Given the description of an element on the screen output the (x, y) to click on. 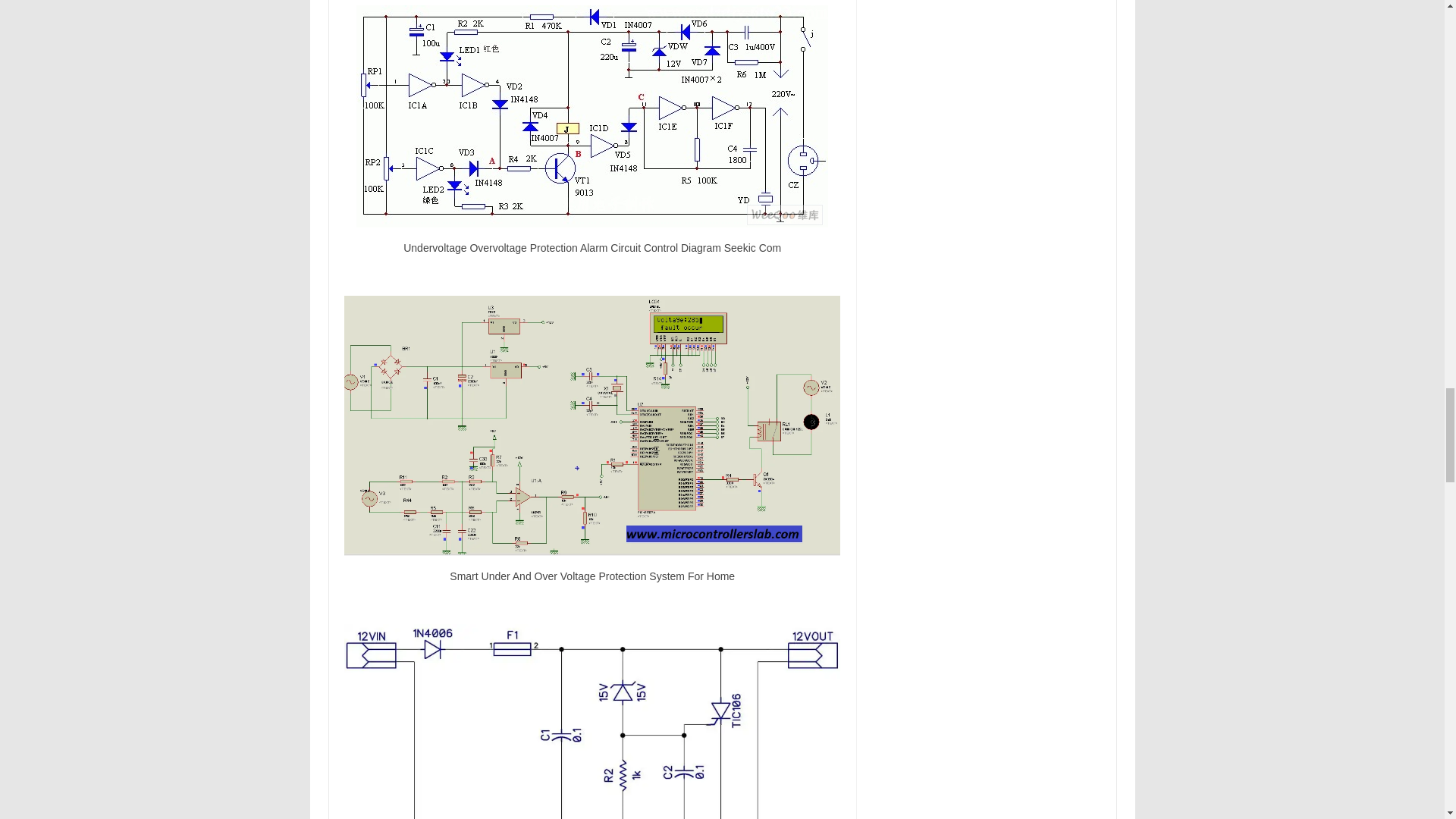
Smart Under And Over Voltage Protection System For Home (591, 425)
